Given the description of an element on the screen output the (x, y) to click on. 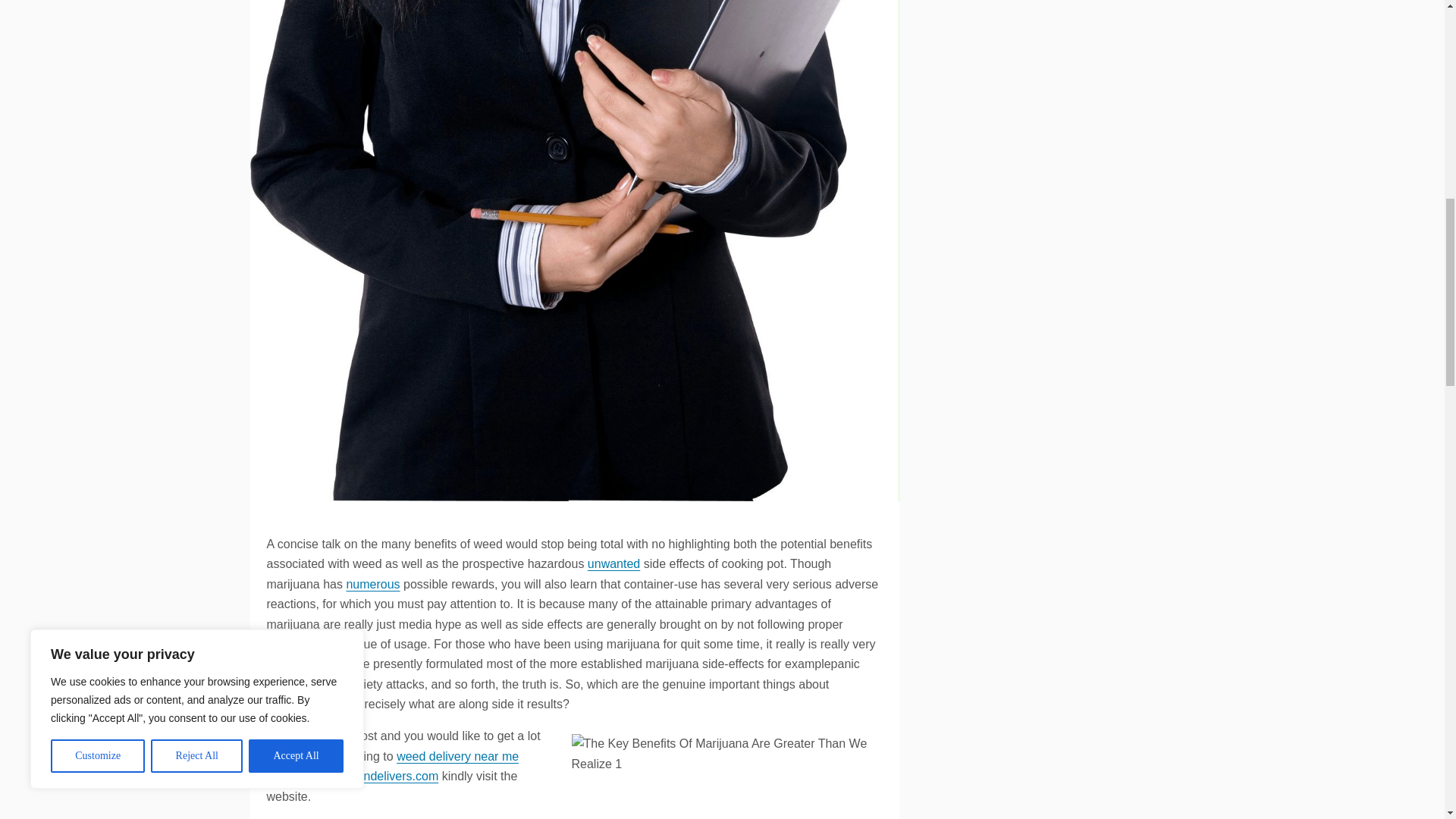
numerous (372, 584)
unwanted (614, 563)
